Given the description of an element on the screen output the (x, y) to click on. 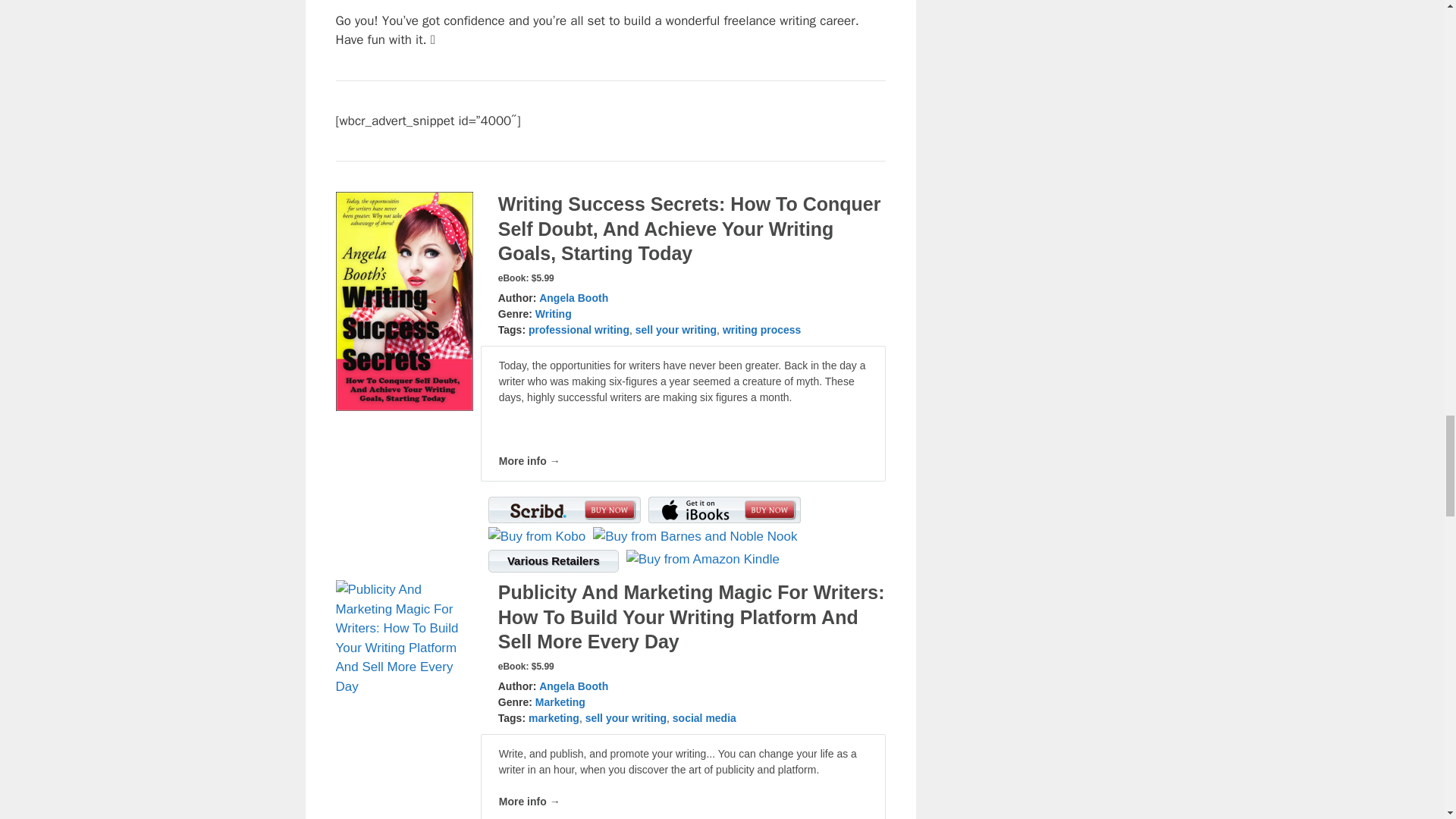
writing process (761, 329)
Angela Booth (573, 297)
sell your writing (675, 329)
professional writing (578, 329)
Writing (553, 313)
